Given the description of an element on the screen output the (x, y) to click on. 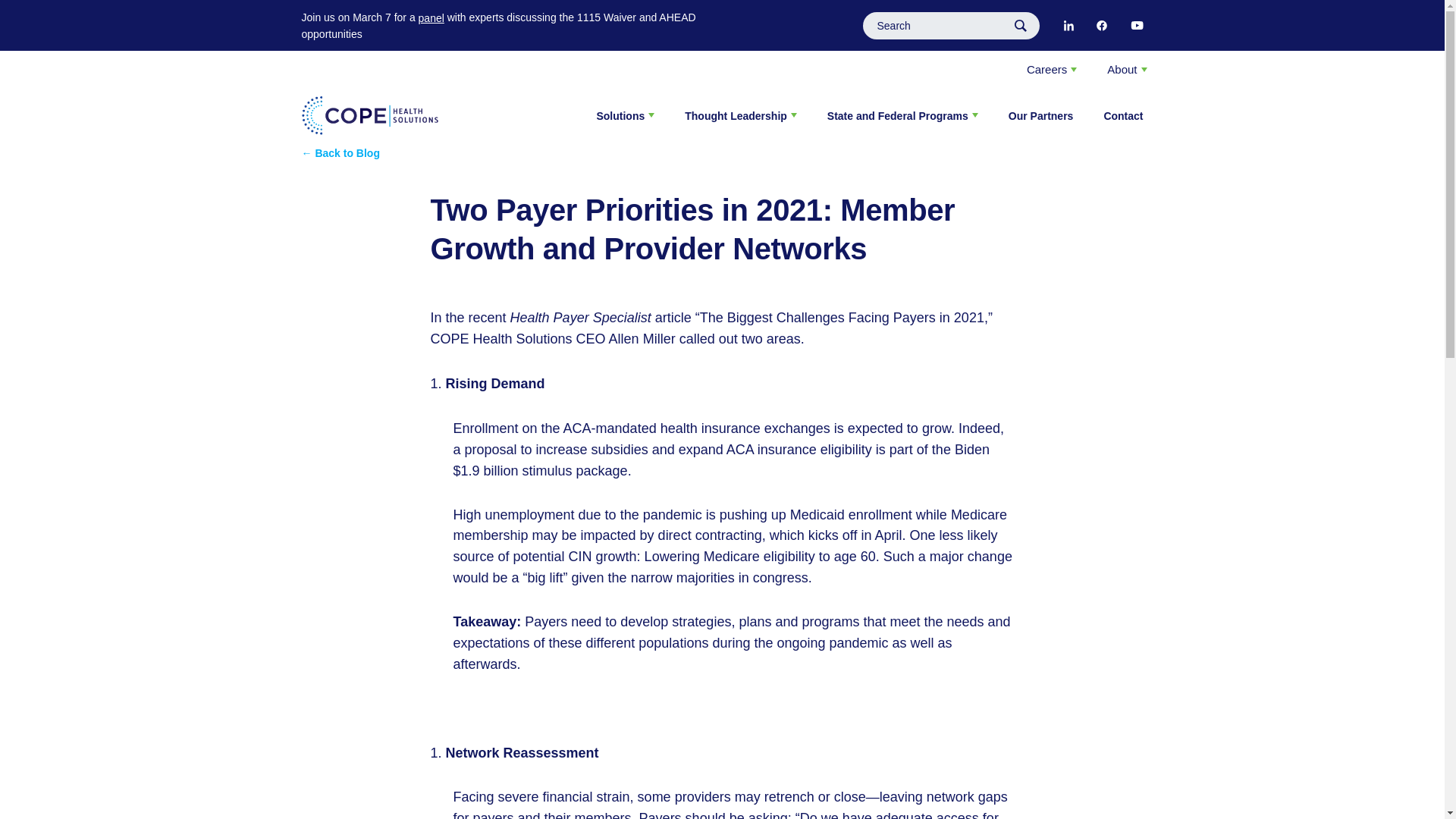
A6F70425-697A-4E27-B78C-9C693235582D (1101, 25)
26C87EFB-3DB7-48F5-87D1-143569C272E7 (1067, 25)
F7D84911-CC95-4A61-98F0-5D0E362F79BE (1135, 25)
